Given the description of an element on the screen output the (x, y) to click on. 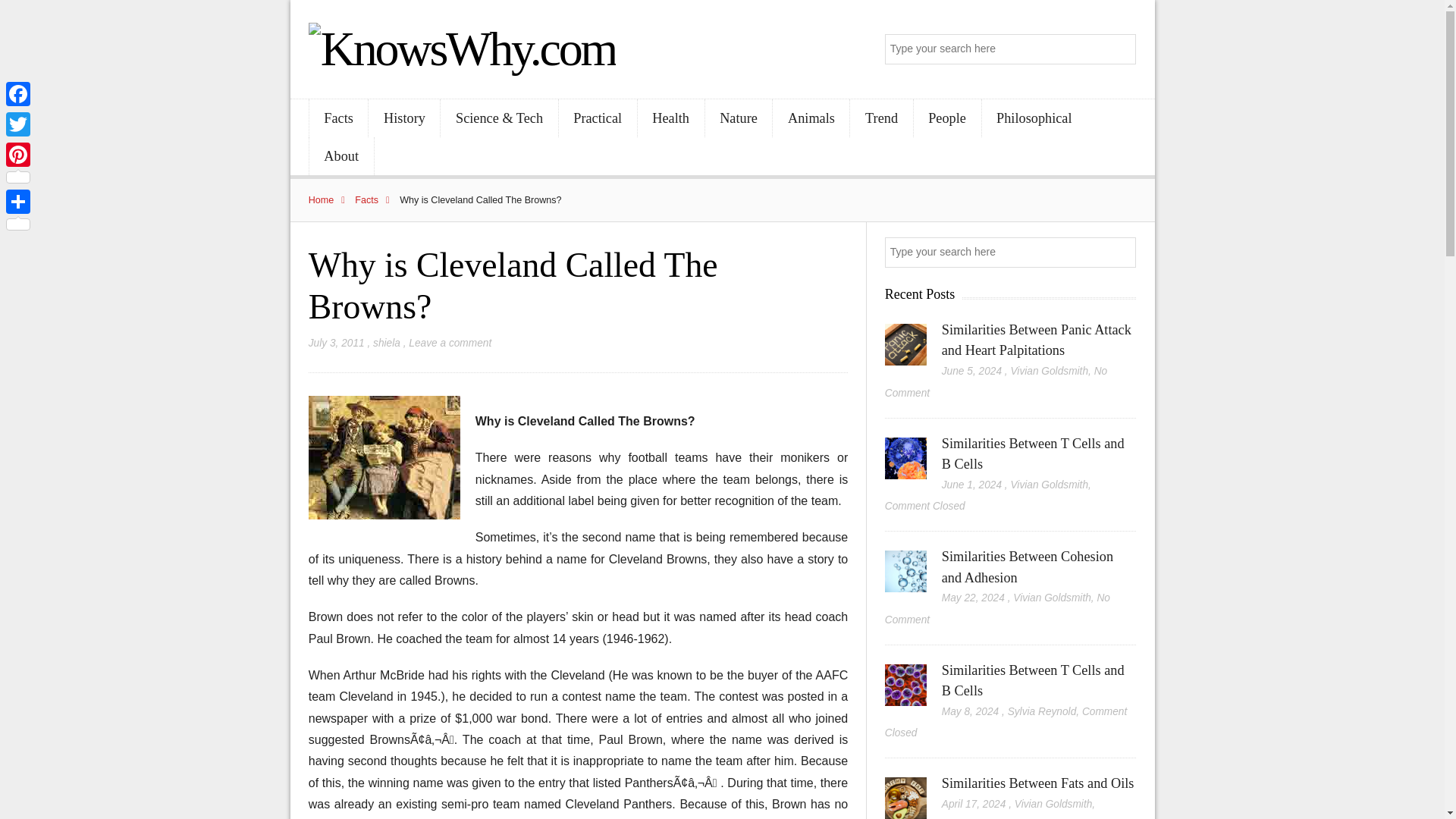
Home (330, 199)
Leave a comment (450, 342)
History (403, 118)
People (947, 118)
Search (1123, 49)
Facts (338, 118)
Posts by shiela (386, 342)
Practical (598, 118)
Nature (738, 118)
About (341, 156)
Philosophical (1033, 118)
Health (670, 118)
Facts (375, 199)
Trend (881, 118)
Animals (810, 118)
